Given the description of an element on the screen output the (x, y) to click on. 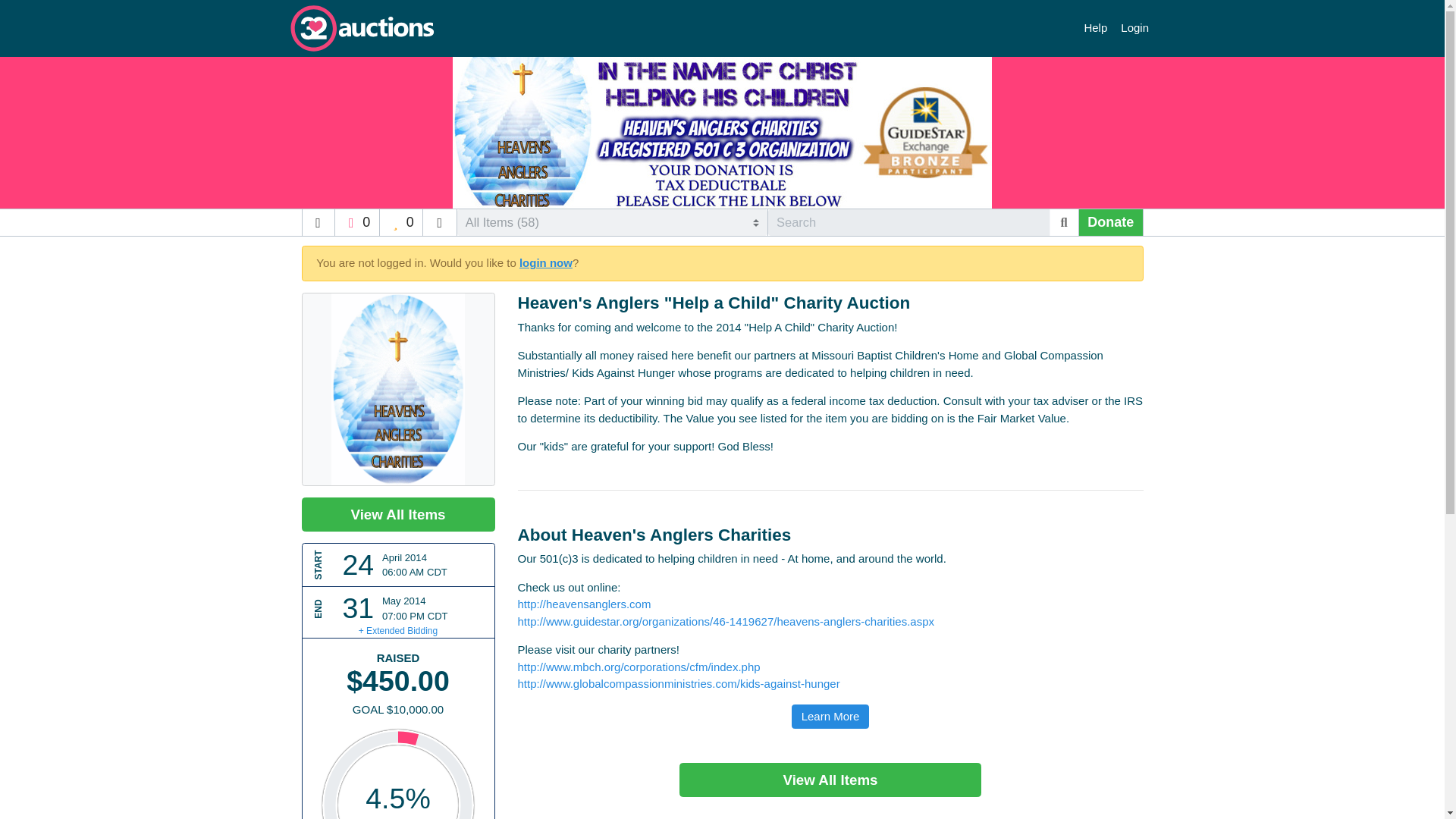
Item List (440, 222)
Login (1134, 28)
0 (356, 222)
Help (1095, 28)
View All Items (830, 779)
0 (401, 222)
Learn More (829, 716)
Donate (1110, 222)
View All Items (398, 514)
My Watchlist (356, 222)
Auction Home (317, 222)
Search (1063, 222)
login now (545, 262)
My Bids (401, 222)
